Given the description of an element on the screen output the (x, y) to click on. 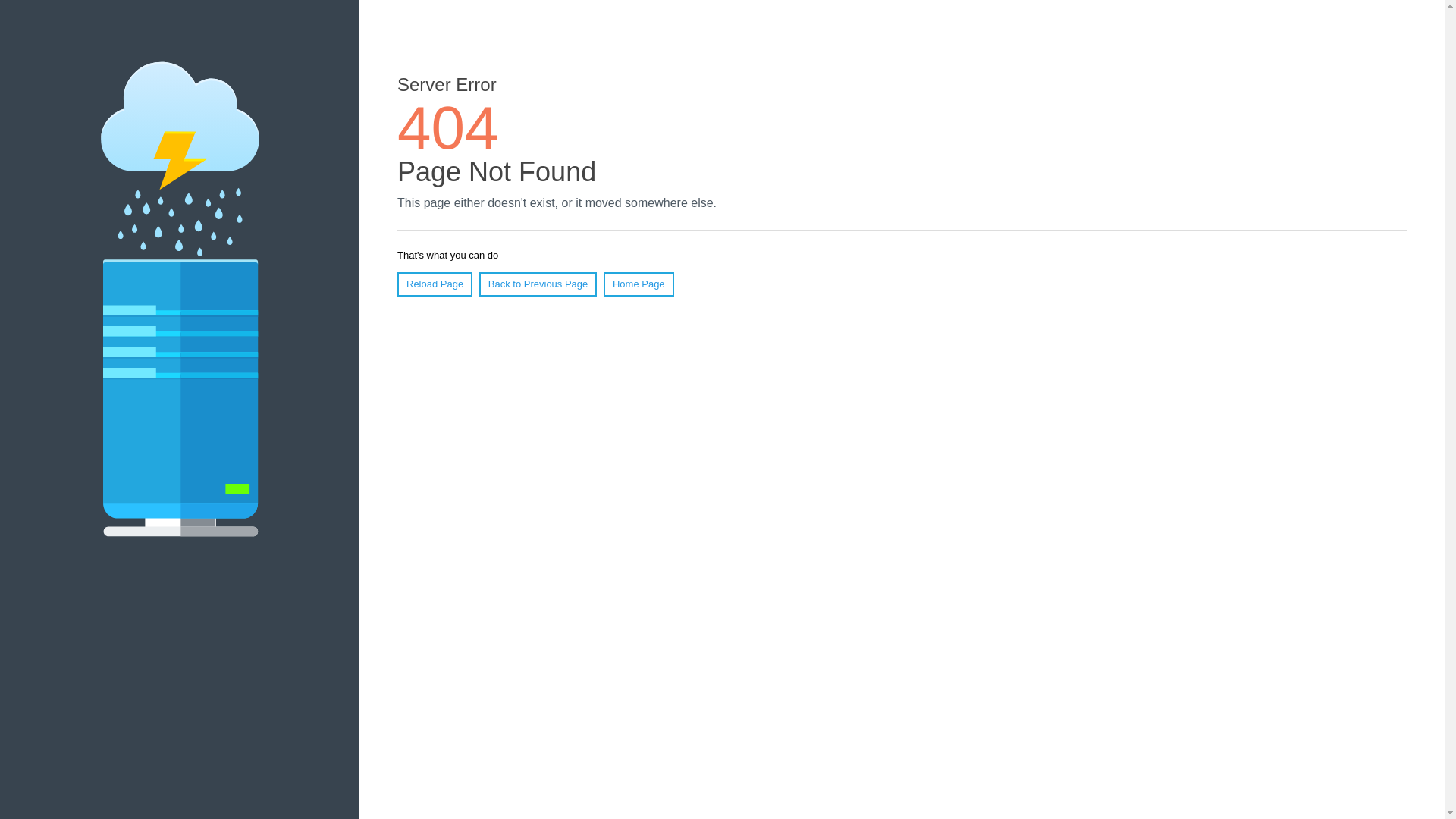
Reload Page Element type: text (434, 284)
Back to Previous Page Element type: text (538, 284)
Home Page Element type: text (638, 284)
